Given the description of an element on the screen output the (x, y) to click on. 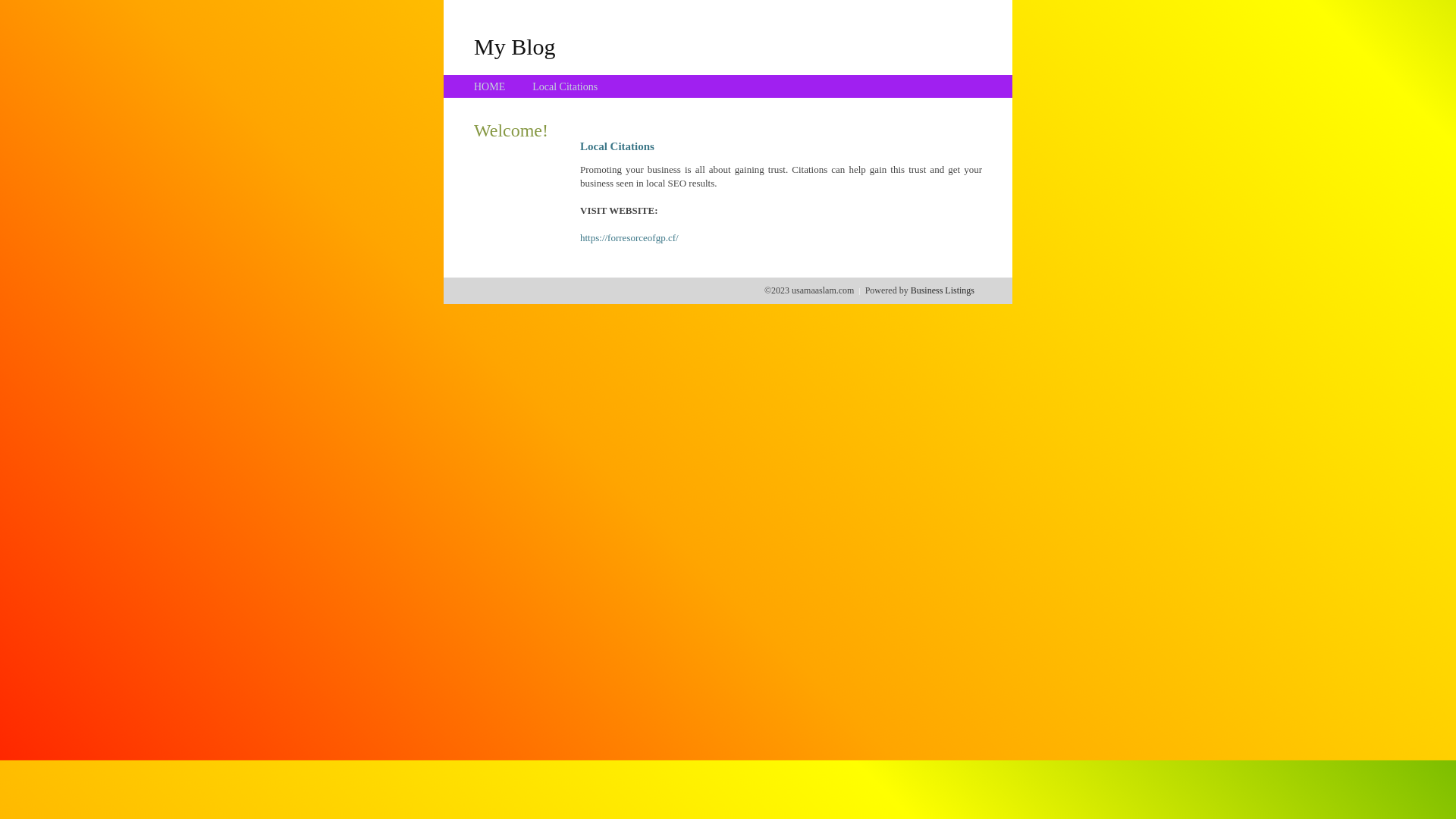
HOME Element type: text (489, 86)
https://forresorceofgp.cf/ Element type: text (629, 237)
My Blog Element type: text (514, 46)
Business Listings Element type: text (942, 290)
Local Citations Element type: text (564, 86)
